Given the description of an element on the screen output the (x, y) to click on. 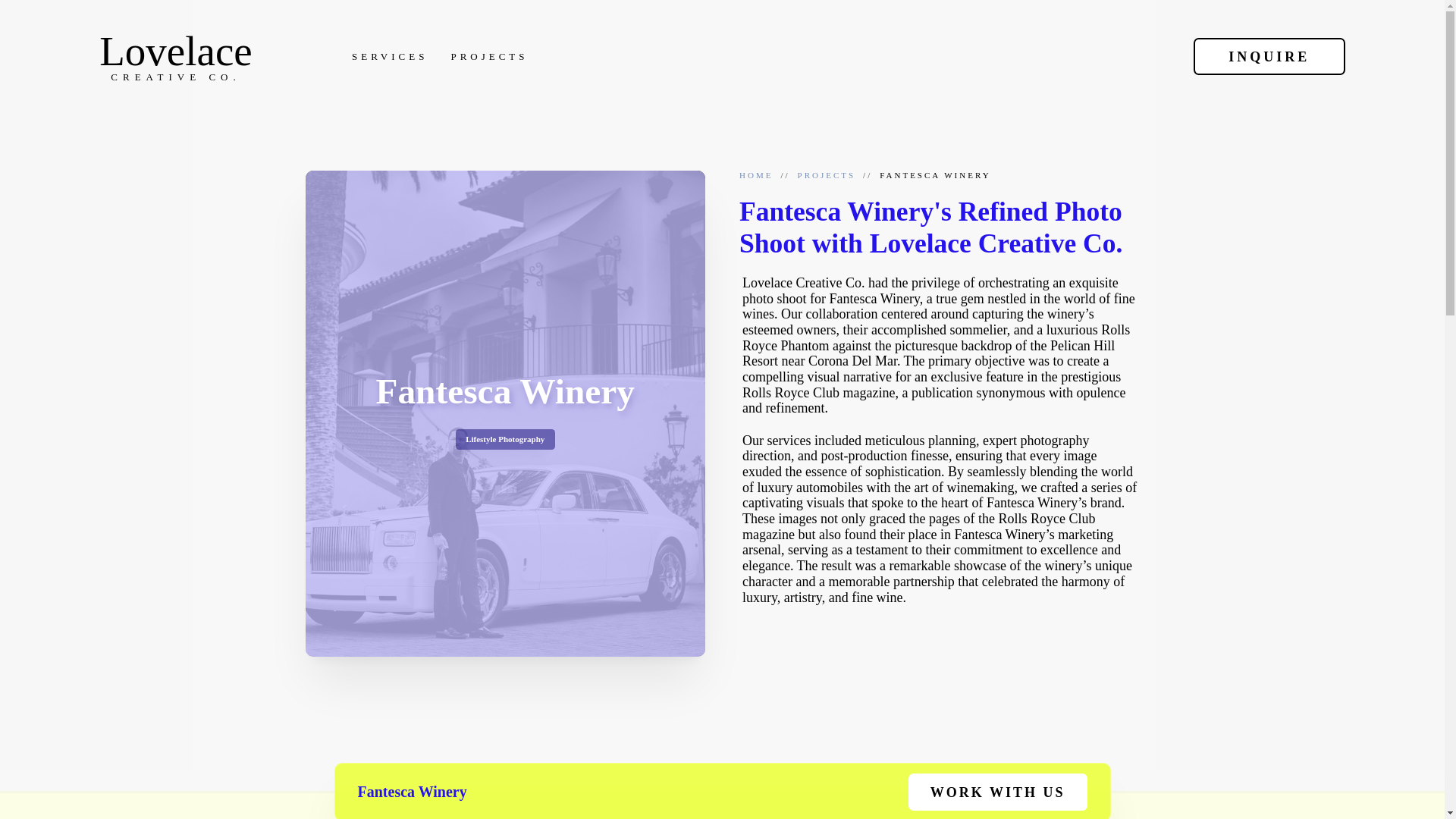
SERVICES (175, 56)
PROJECTS (390, 56)
